Given the description of an element on the screen output the (x, y) to click on. 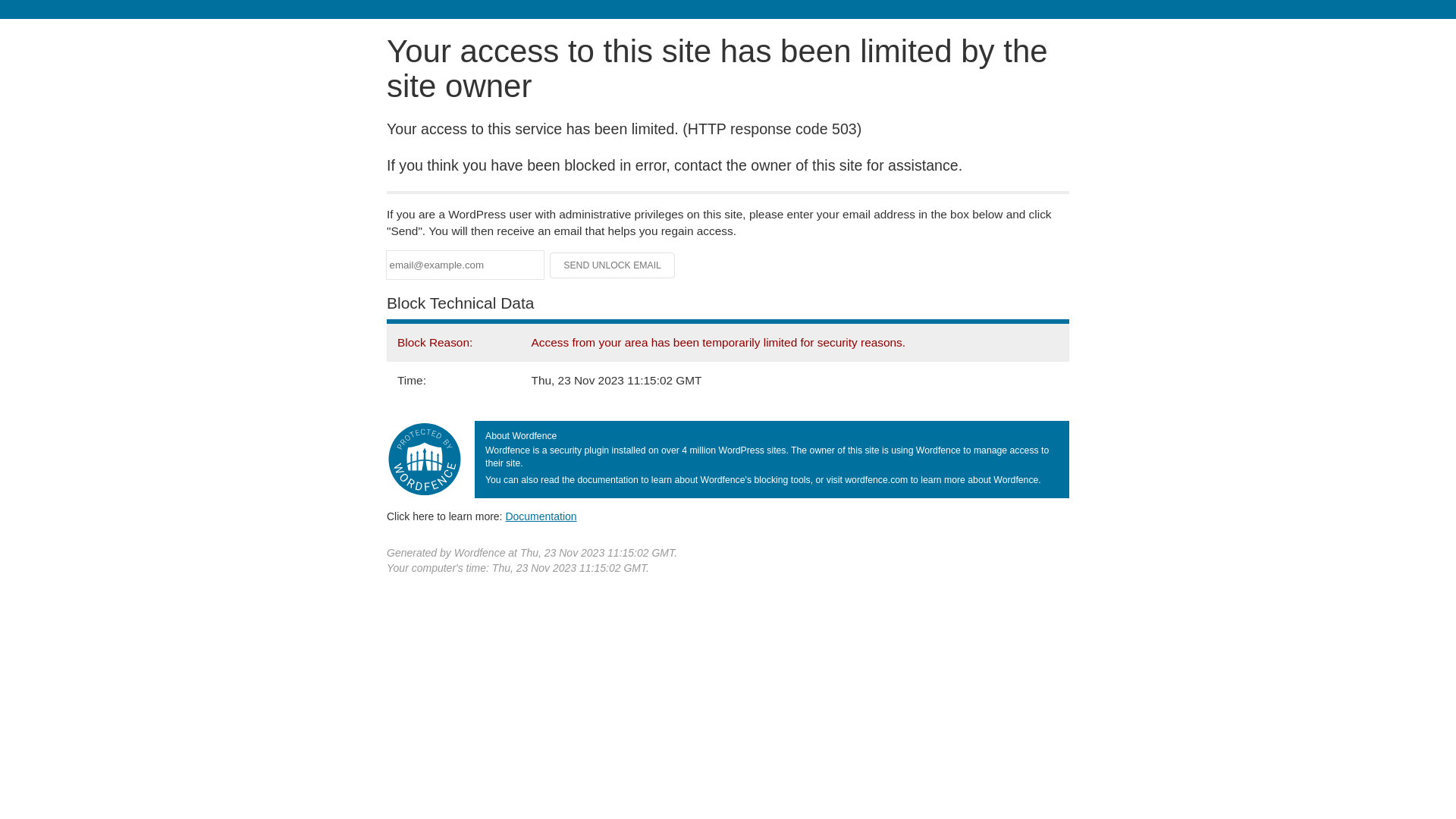
Send Unlock Email Element type: text (612, 265)
Documentation Element type: text (540, 516)
